Given the description of an element on the screen output the (x, y) to click on. 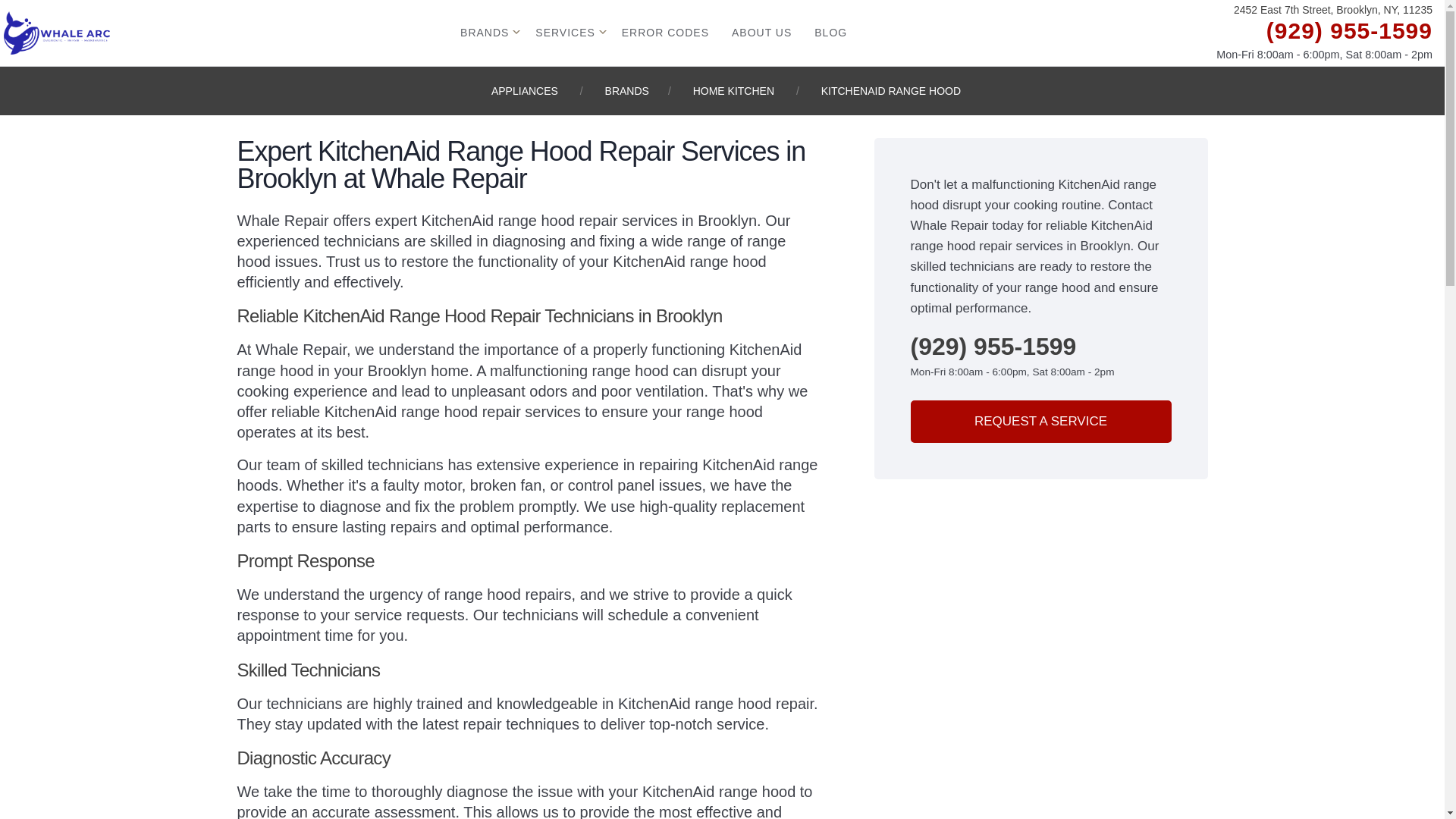
BLOG (830, 32)
HOME KITCHEN (733, 91)
REQUEST A SERVICE (1040, 421)
2452 East 7th Street, Brooklyn, NY, 11235 (1332, 10)
ERROR CODES (665, 32)
APPLIANCES (524, 91)
ABOUT US (761, 32)
BRANDS (627, 91)
